Given the description of an element on the screen output the (x, y) to click on. 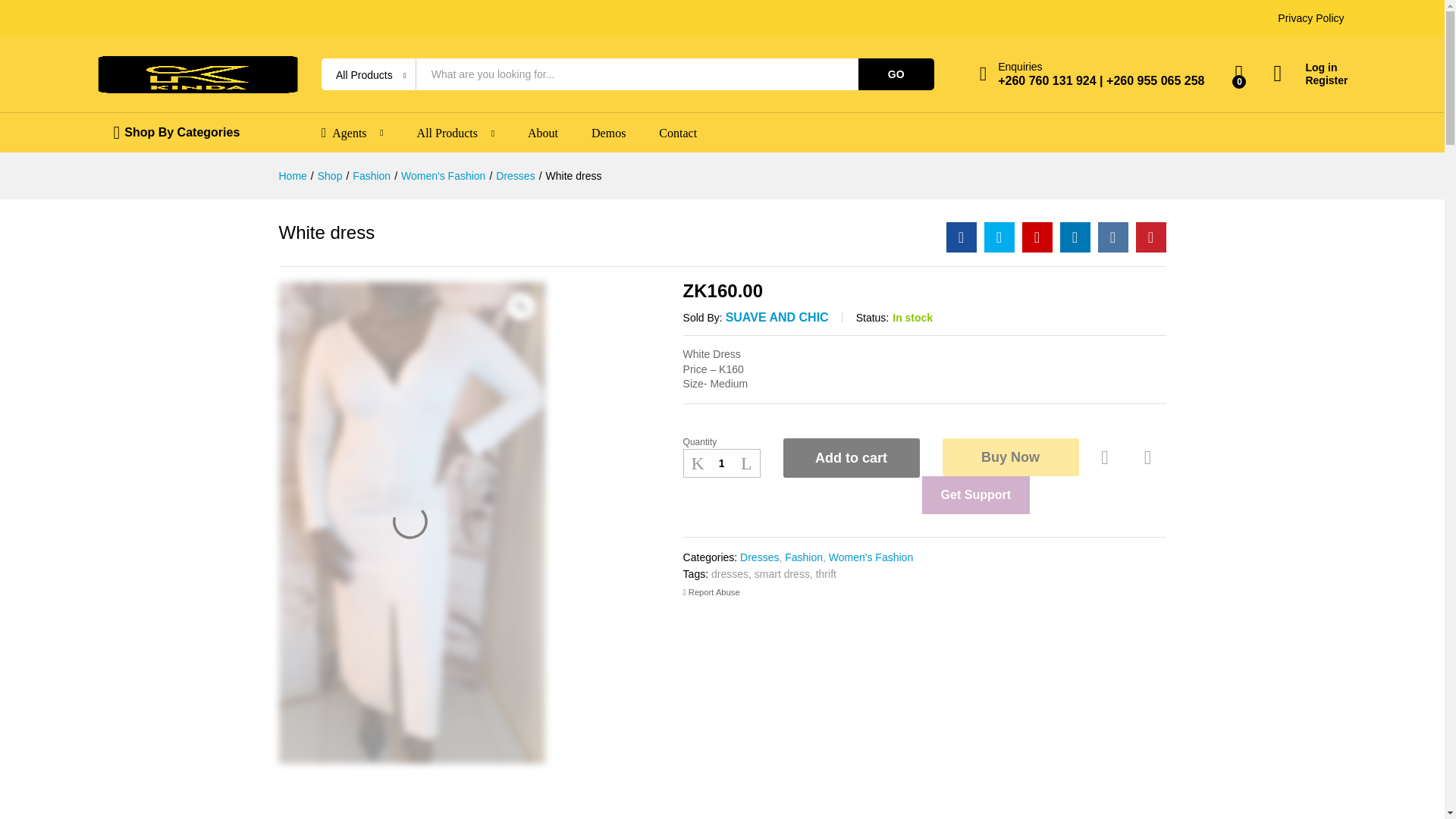
White dress (1037, 236)
Qty (721, 462)
Add to wishlist (1106, 457)
Shop By Categories (181, 132)
Log in (1310, 67)
White dress (961, 236)
Privacy Policy (1310, 18)
Compare (1147, 457)
GO (896, 74)
1 (721, 462)
